Given the description of an element on the screen output the (x, y) to click on. 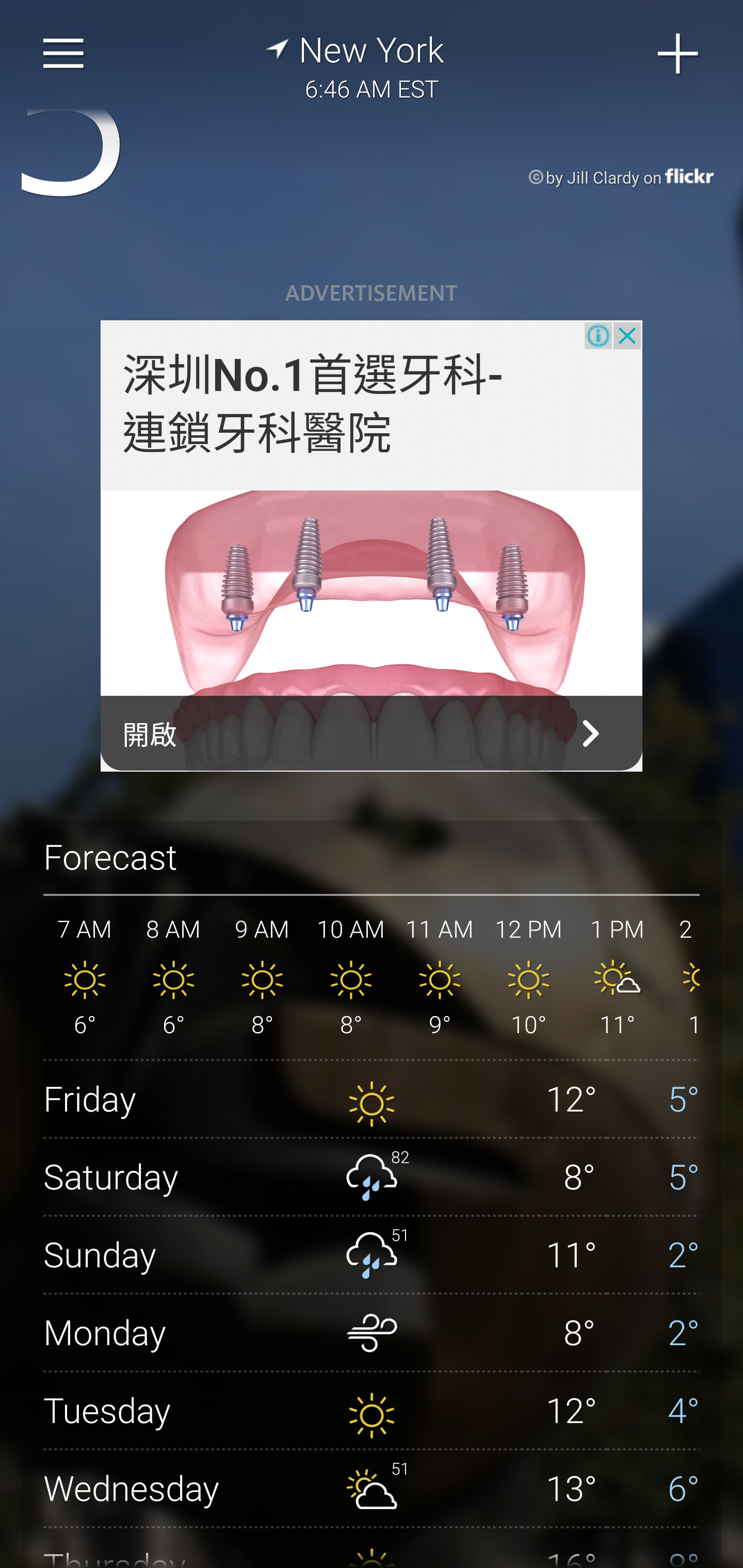
Sidebar (64, 54)
Add City (678, 53)
深圳No.1首選牙科- 連鎖牙科醫院 深圳No.1首選牙科- 
 連鎖牙科醫院 (313, 404)
開啟 (371, 733)
